Given the description of an element on the screen output the (x, y) to click on. 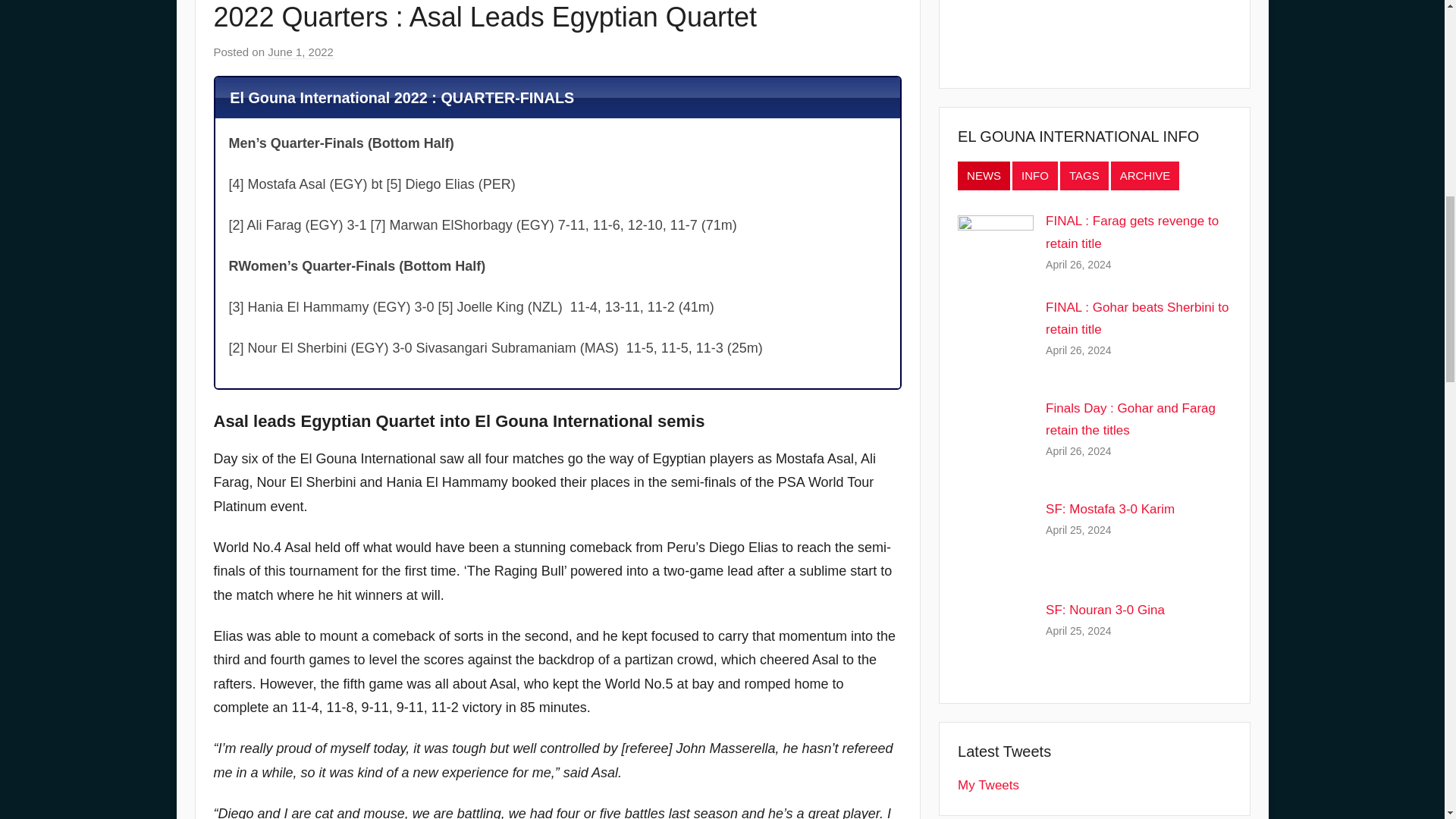
FINAL : Farag gets revenge to retain title (1131, 231)
June 1, 2022 (300, 51)
FINAL : Gohar beats Sherbini to retain title (1136, 318)
